Given the description of an element on the screen output the (x, y) to click on. 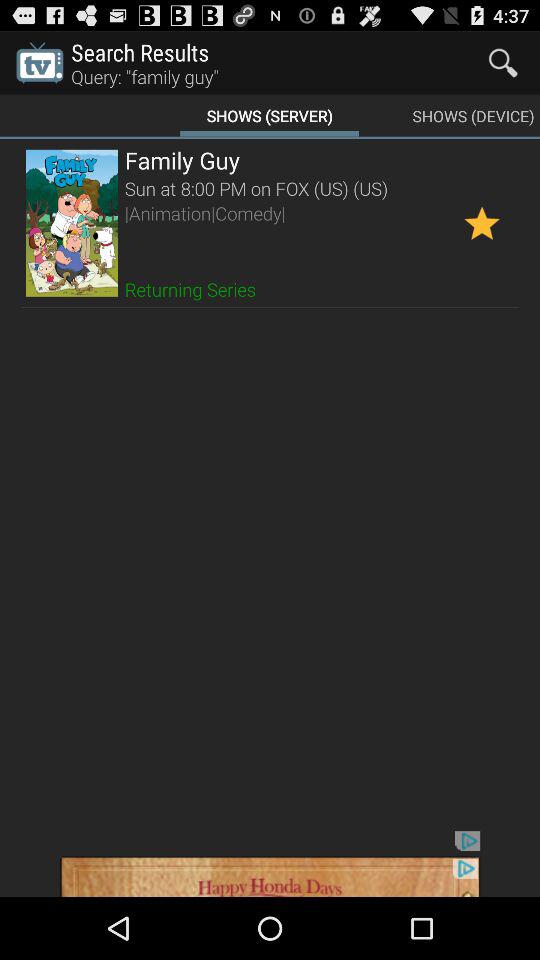
advertisement (270, 864)
